Given the description of an element on the screen output the (x, y) to click on. 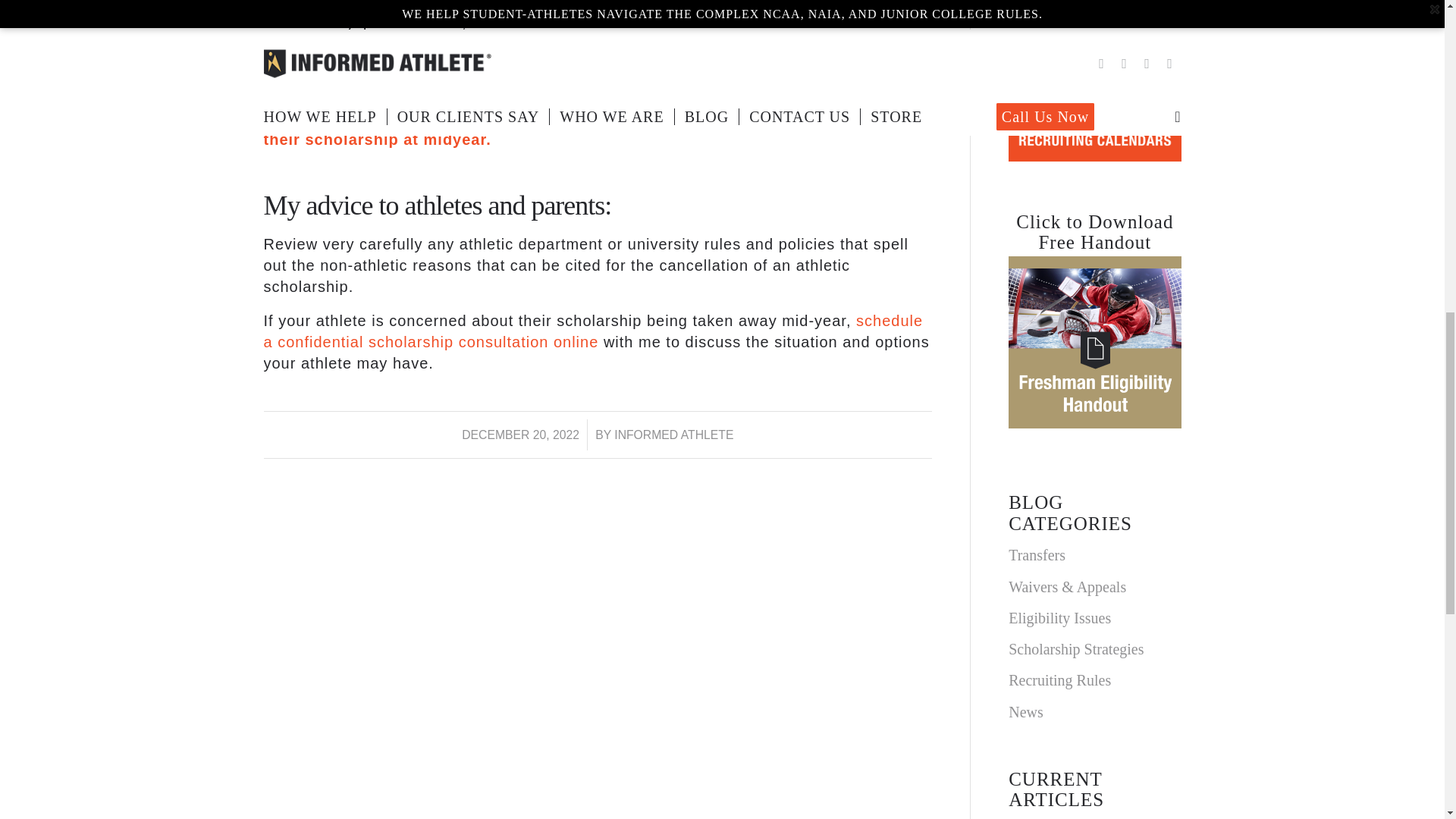
schedule a confidential scholarship consultation online  (593, 331)
INFORMED ATHLETE (673, 434)
Transfers (1094, 554)
Posts by Informed Athlete (673, 434)
